Given the description of an element on the screen output the (x, y) to click on. 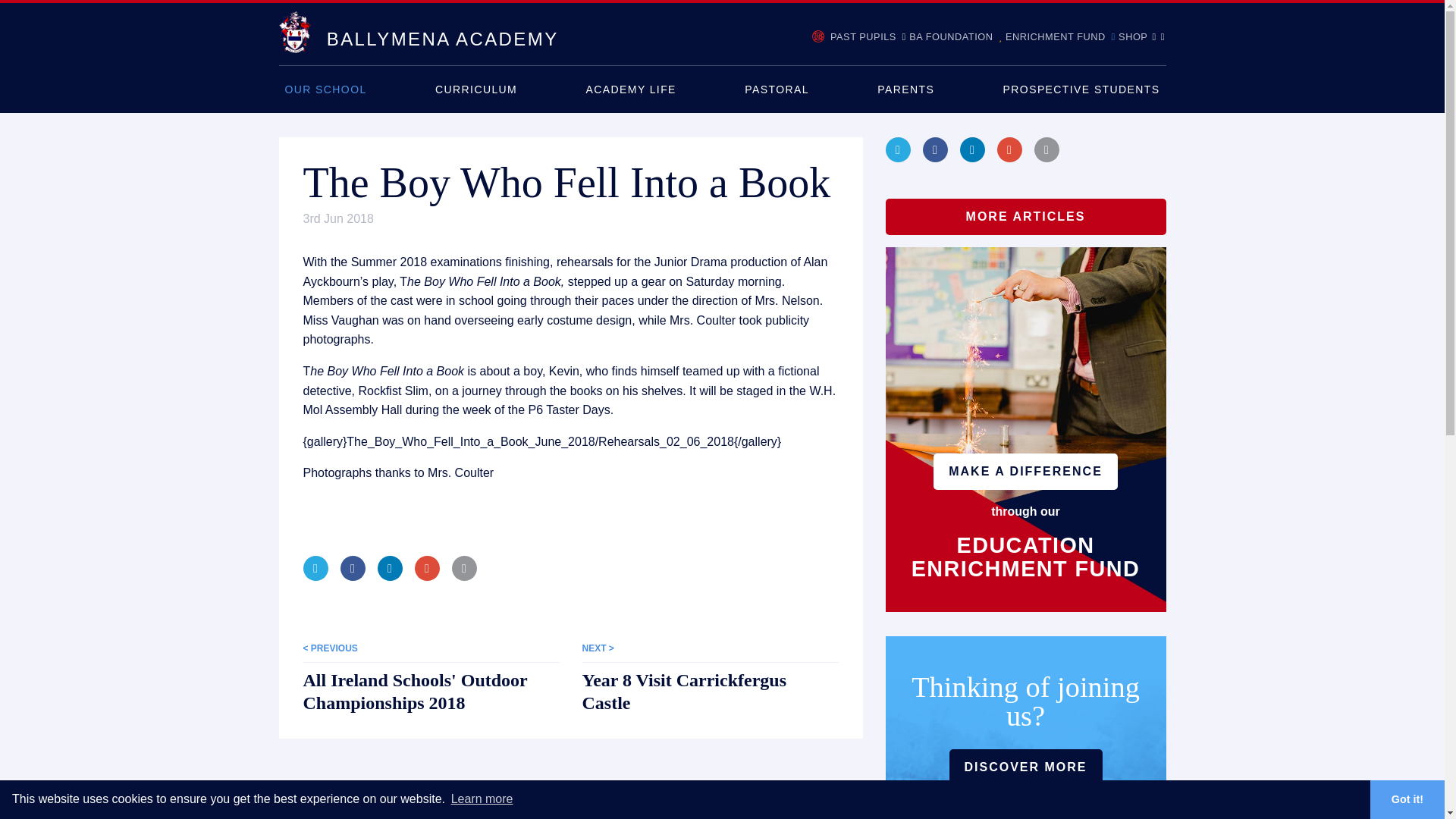
Share on Linkedin (972, 149)
Share via email (464, 568)
Share on Facebook (935, 149)
Share on Twitter (898, 149)
Share via email (1046, 149)
Share on Twitter (315, 568)
Learn more (481, 798)
Share on Facebook (352, 568)
Share on Linkedin (390, 568)
